Given the description of an element on the screen output the (x, y) to click on. 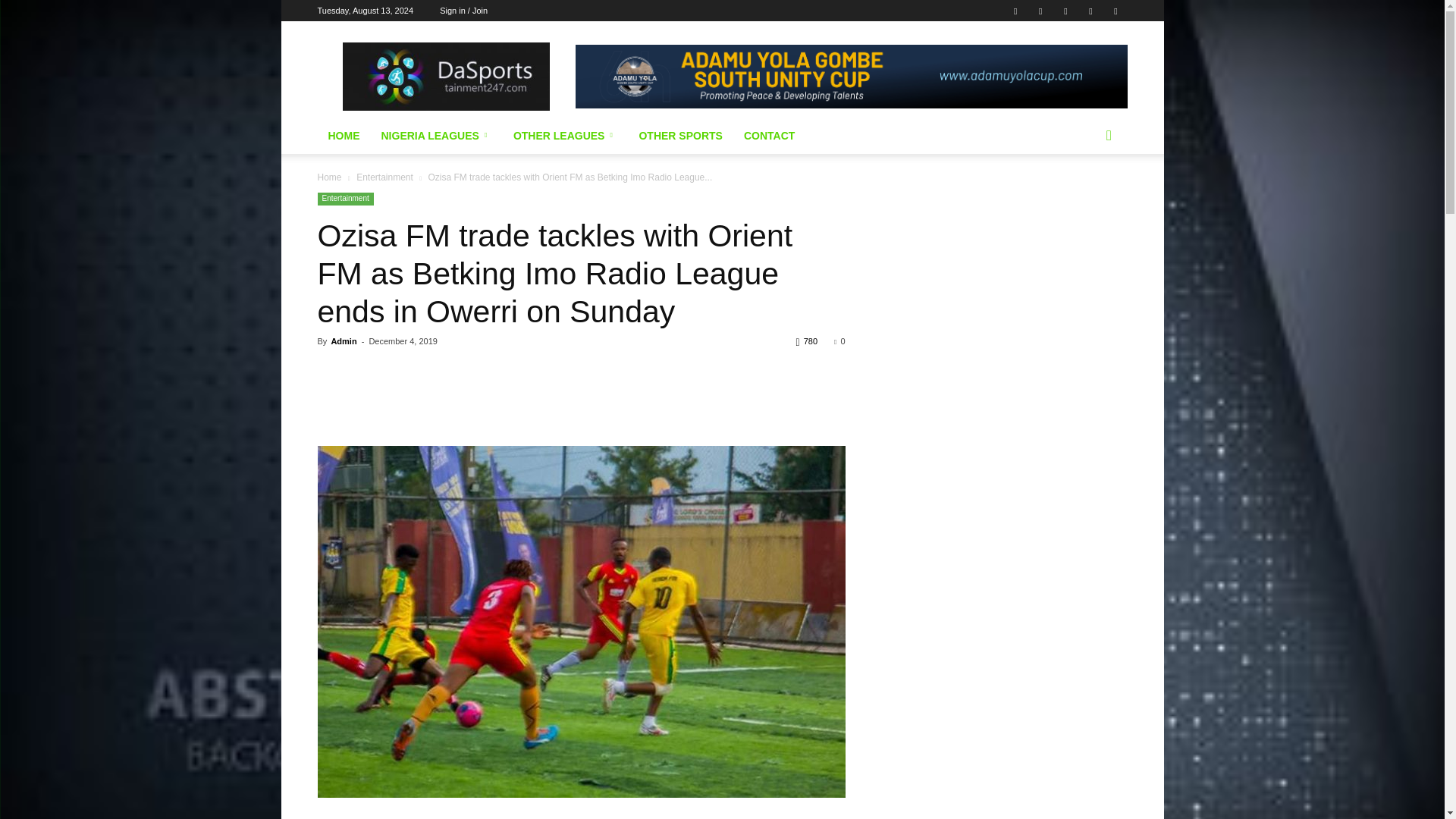
VKontakte (1090, 10)
Facebook (1015, 10)
Twitter (1040, 10)
Vimeo (1065, 10)
View all posts in Entertainment (384, 176)
Youtube (1114, 10)
